Given the description of an element on the screen output the (x, y) to click on. 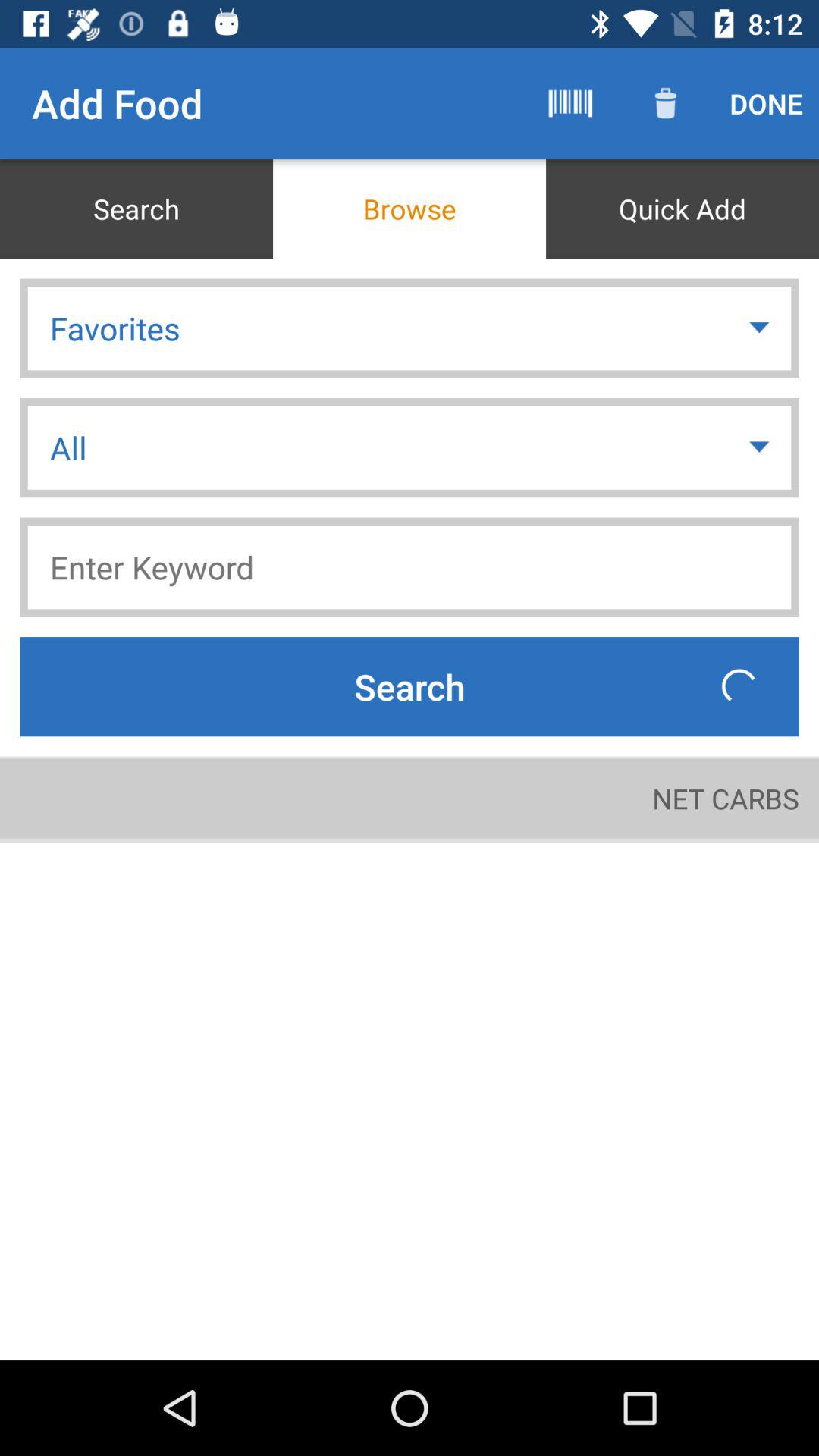
swipe to done (766, 103)
